Given the description of an element on the screen output the (x, y) to click on. 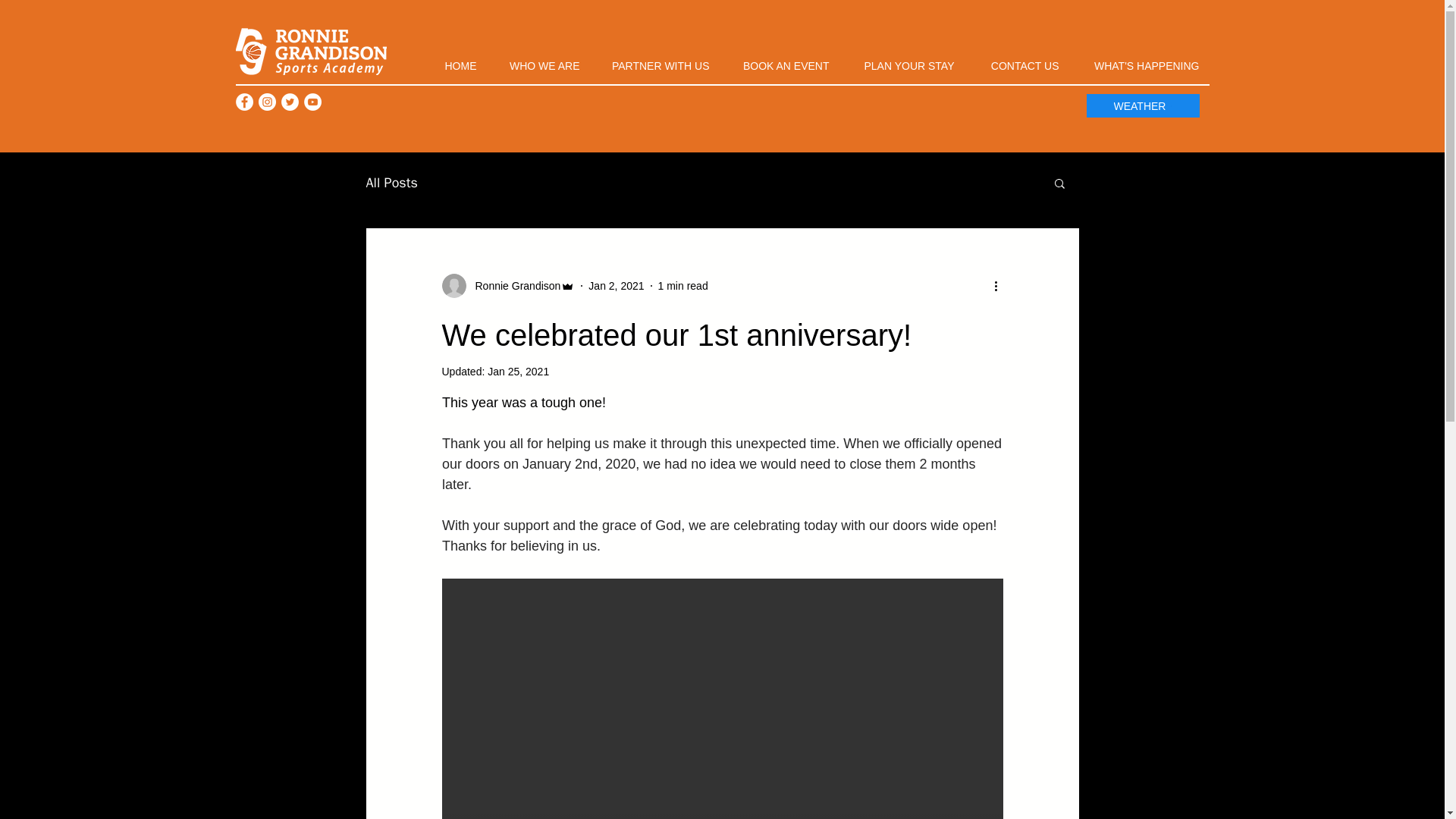
WEATHER (1142, 105)
CONTACT US (1015, 59)
HOME (453, 59)
Jan 25, 2021 (517, 371)
PLAN YOUR STAY (900, 59)
Ronnie Grandison (508, 285)
1 min read (682, 285)
WHO WE ARE (537, 59)
All Posts (390, 182)
WHAT'S HAPPENING (1138, 59)
